Given the description of an element on the screen output the (x, y) to click on. 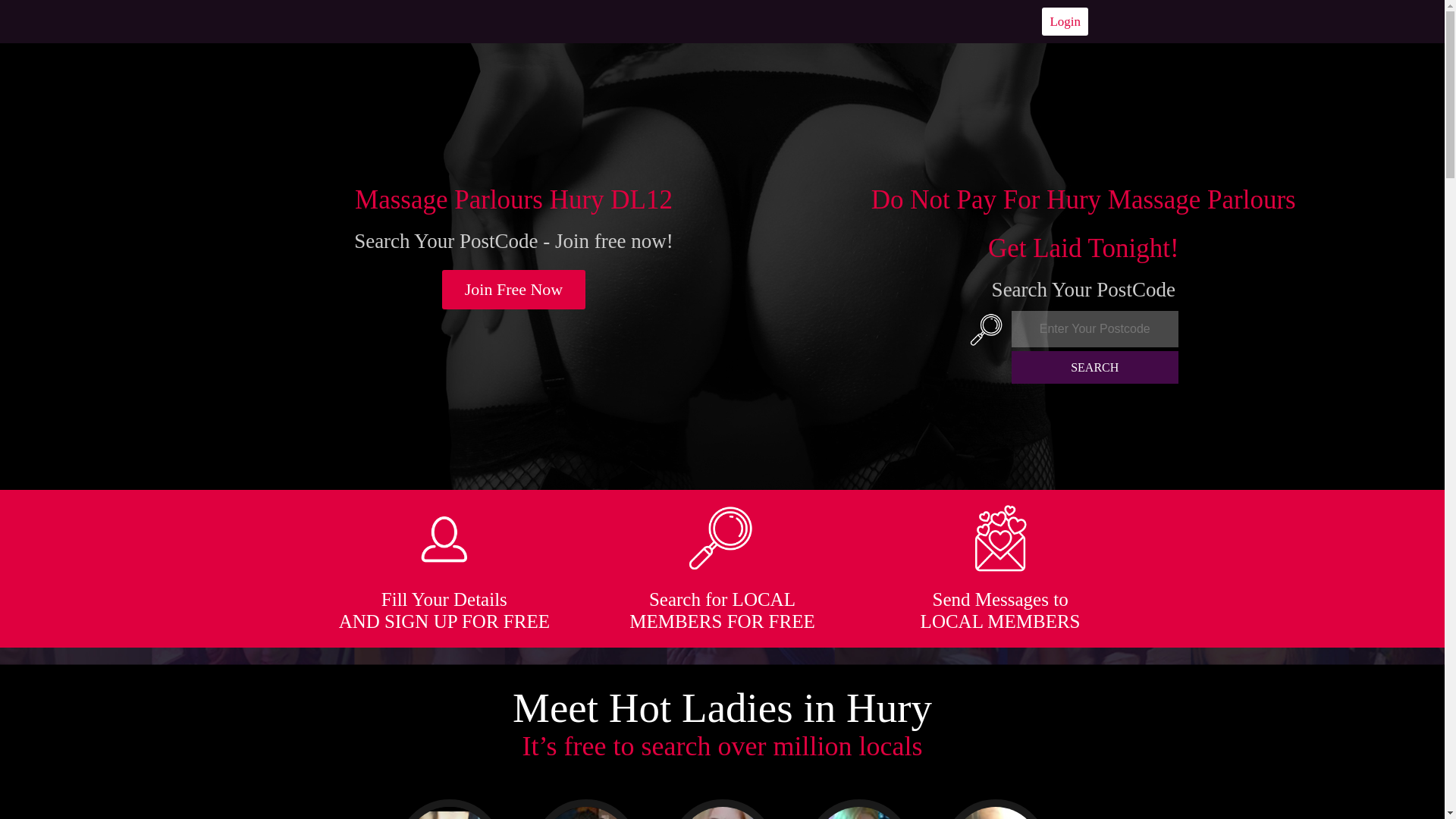
SEARCH (1094, 367)
Join Free Now (514, 289)
Login (1064, 21)
Join (514, 289)
Login (1064, 21)
